Given the description of an element on the screen output the (x, y) to click on. 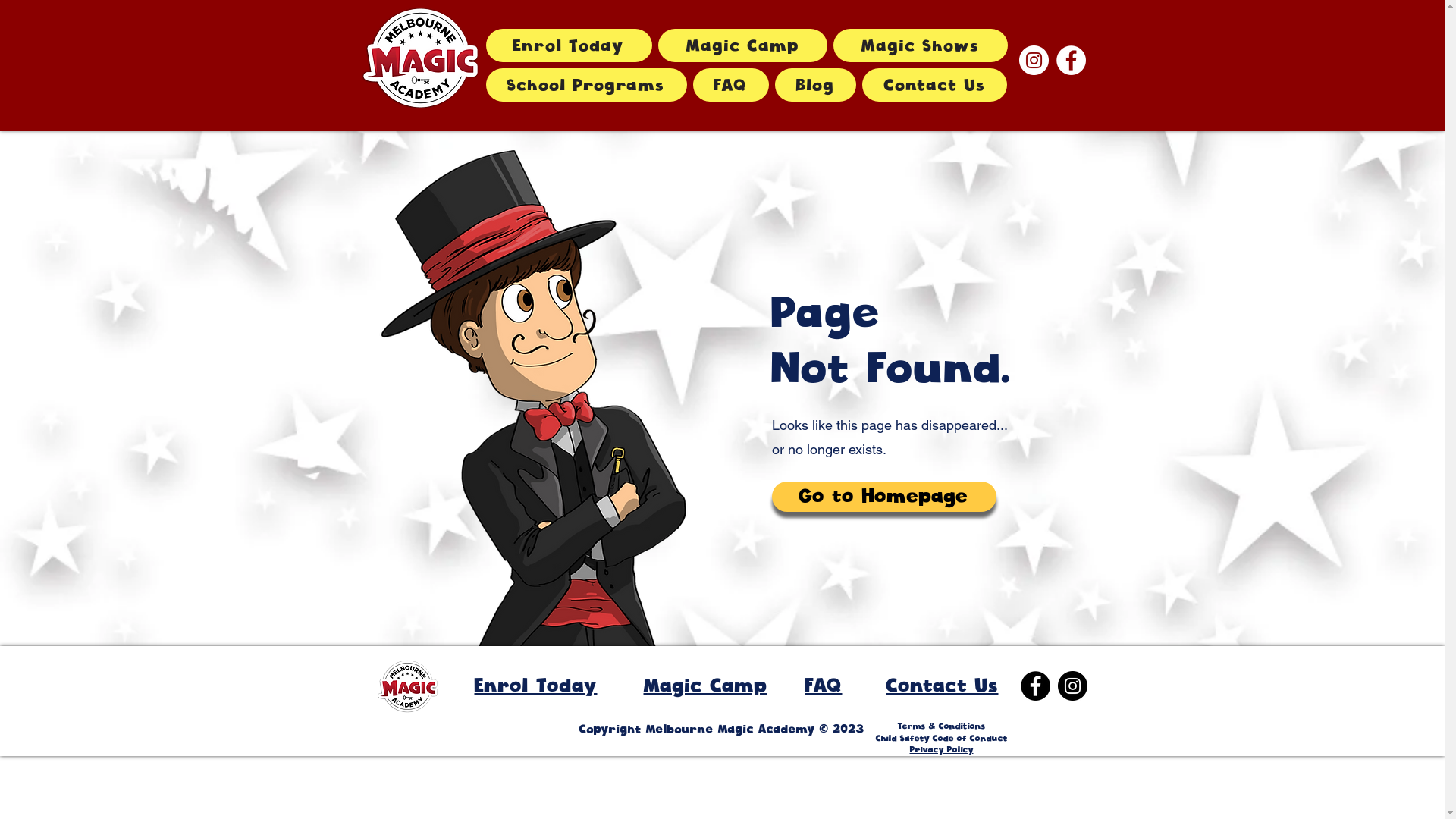
Go to Homepage Element type: text (883, 496)
Contact Us Element type: text (934, 84)
FAQ Element type: text (730, 84)
Magic Camp Element type: text (742, 45)
Magic Shows Element type: text (920, 45)
Privacy Policy Element type: text (941, 748)
Enrol Today Element type: text (535, 684)
Enrol Today Element type: text (568, 45)
Magic Camp Element type: text (704, 684)
Blog Element type: text (815, 84)
Terms & Conditions Element type: text (941, 725)
Contact Us Element type: text (941, 684)
FAQ Element type: text (823, 684)
School Programs Element type: text (585, 84)
Child Safety Code of Conduct Element type: text (941, 737)
